Given the description of an element on the screen output the (x, y) to click on. 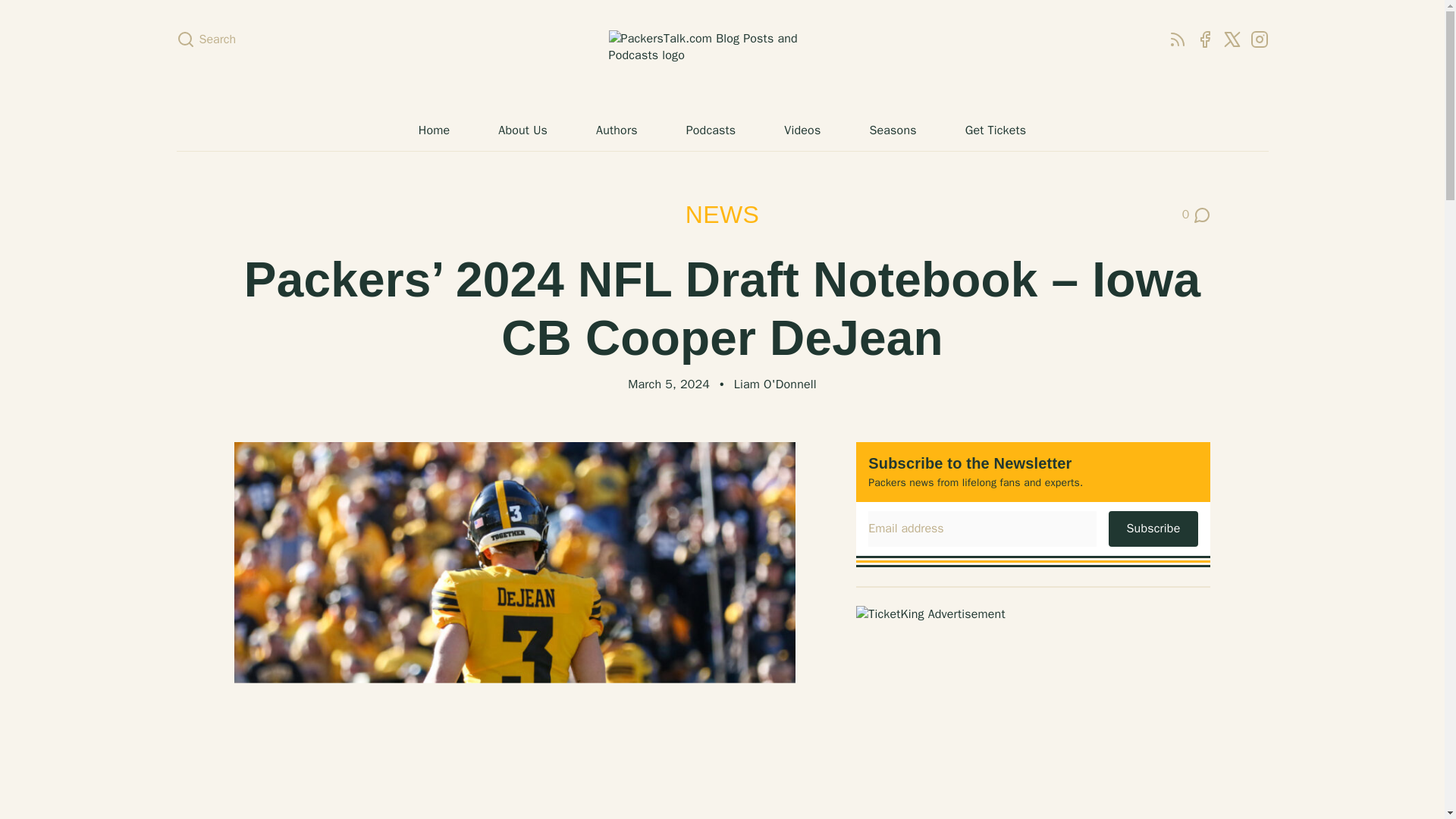
Comments (1196, 215)
Podcasts (710, 129)
About Us (522, 129)
NEWS (721, 214)
Facebook (1196, 215)
PackersTalk.com Blog Posts and Podcasts (1203, 39)
Subscribe (722, 56)
PackersTalk on Instagram (1153, 528)
Liam O'Donnell (1258, 39)
